Given the description of an element on the screen output the (x, y) to click on. 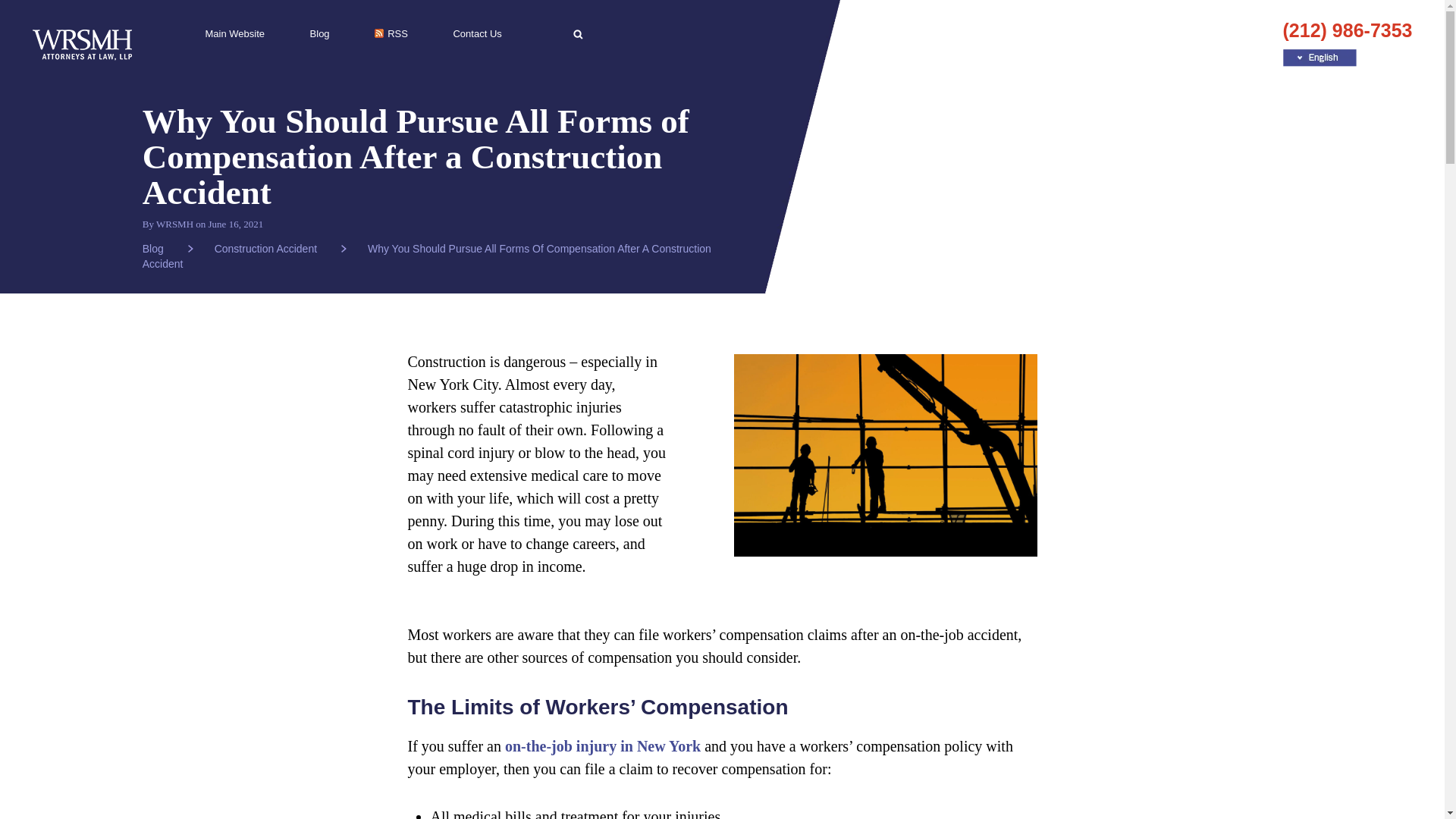
Contact Us (476, 33)
Main Website (234, 33)
Construction Accident (280, 248)
RSS (390, 33)
Blog (319, 33)
Blog (167, 248)
on-the-job injury in New York (602, 745)
